Given the description of an element on the screen output the (x, y) to click on. 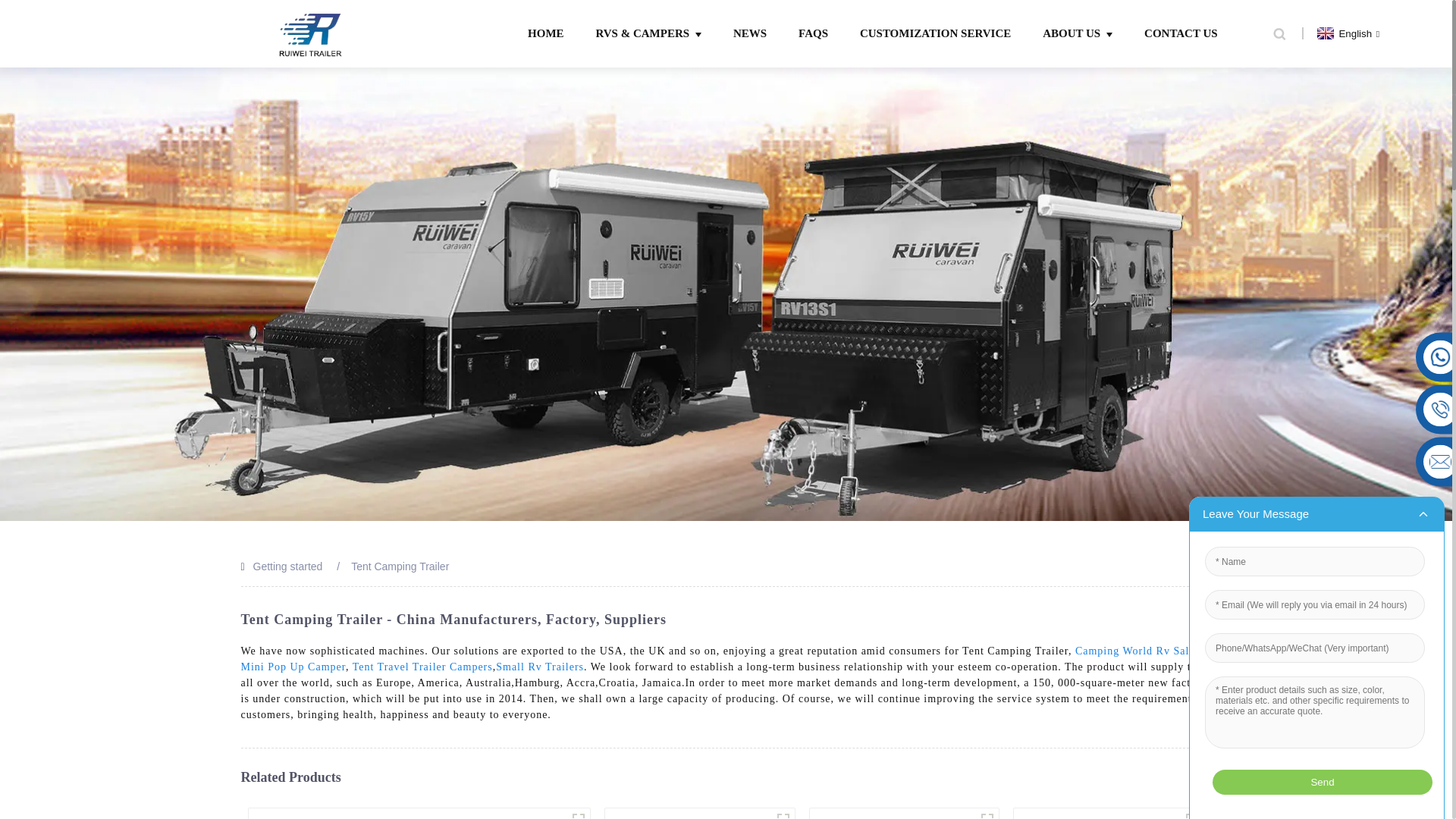
Mini Pop Up Camper (293, 666)
CUSTOMIZATION SERVICE (935, 33)
Small Rv Trailers (539, 666)
FAQS (812, 33)
POP UP CAMPER (578, 813)
Camping World Rv Sales (1137, 650)
Getting started (288, 566)
English (1345, 32)
mini tent trailer (782, 813)
Camping World Rv Sales (1137, 650)
Tent Travel Trailer Campers (422, 666)
ABOUT US (1077, 33)
Tent Travel Trailer Campers (422, 666)
Mini Pop Up Camper (293, 666)
Small Rv Trailers (539, 666)
